Given the description of an element on the screen output the (x, y) to click on. 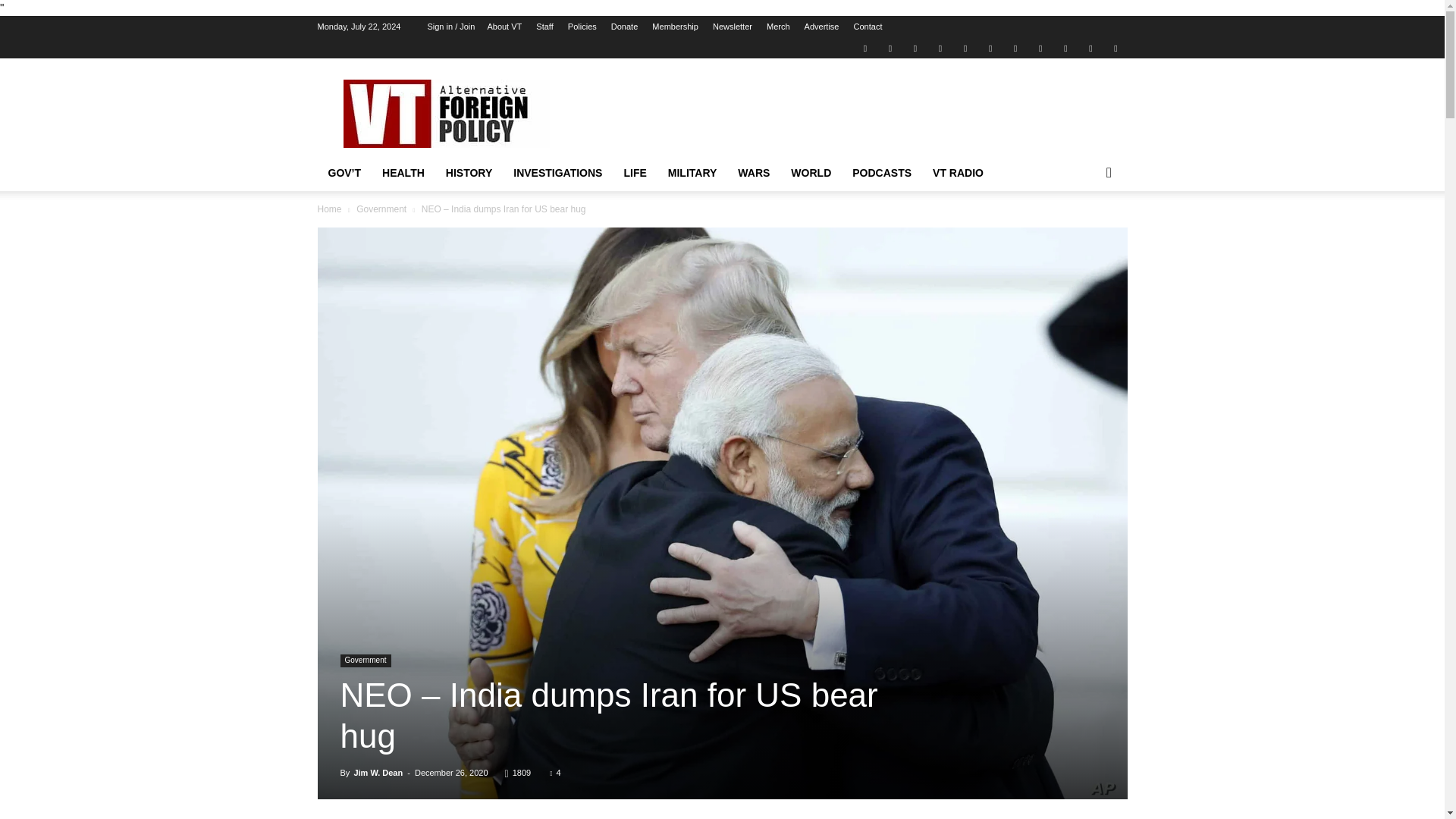
Policies (581, 26)
Contact (867, 26)
Mail (915, 47)
Donate (624, 26)
Reddit (940, 47)
Blogger (864, 47)
About VT (503, 26)
Facebook (890, 47)
Newsletter (732, 26)
Merch (778, 26)
Advertise (822, 26)
Staff (544, 26)
Rumble (964, 47)
Membership (675, 26)
